Given the description of an element on the screen output the (x, y) to click on. 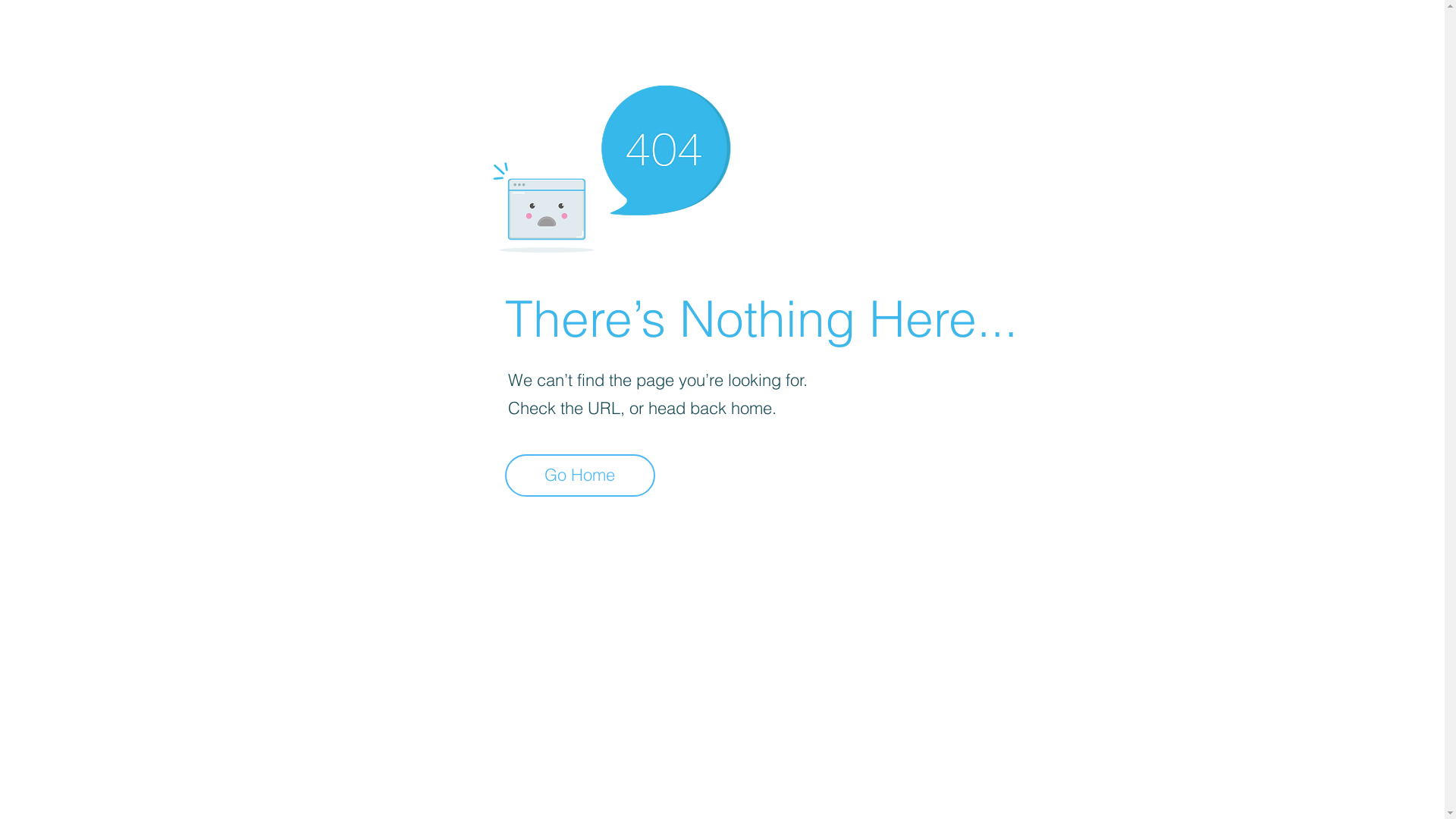
404-icon_2.png Element type: hover (610, 164)
Go Home Element type: text (580, 475)
